Given the description of an element on the screen output the (x, y) to click on. 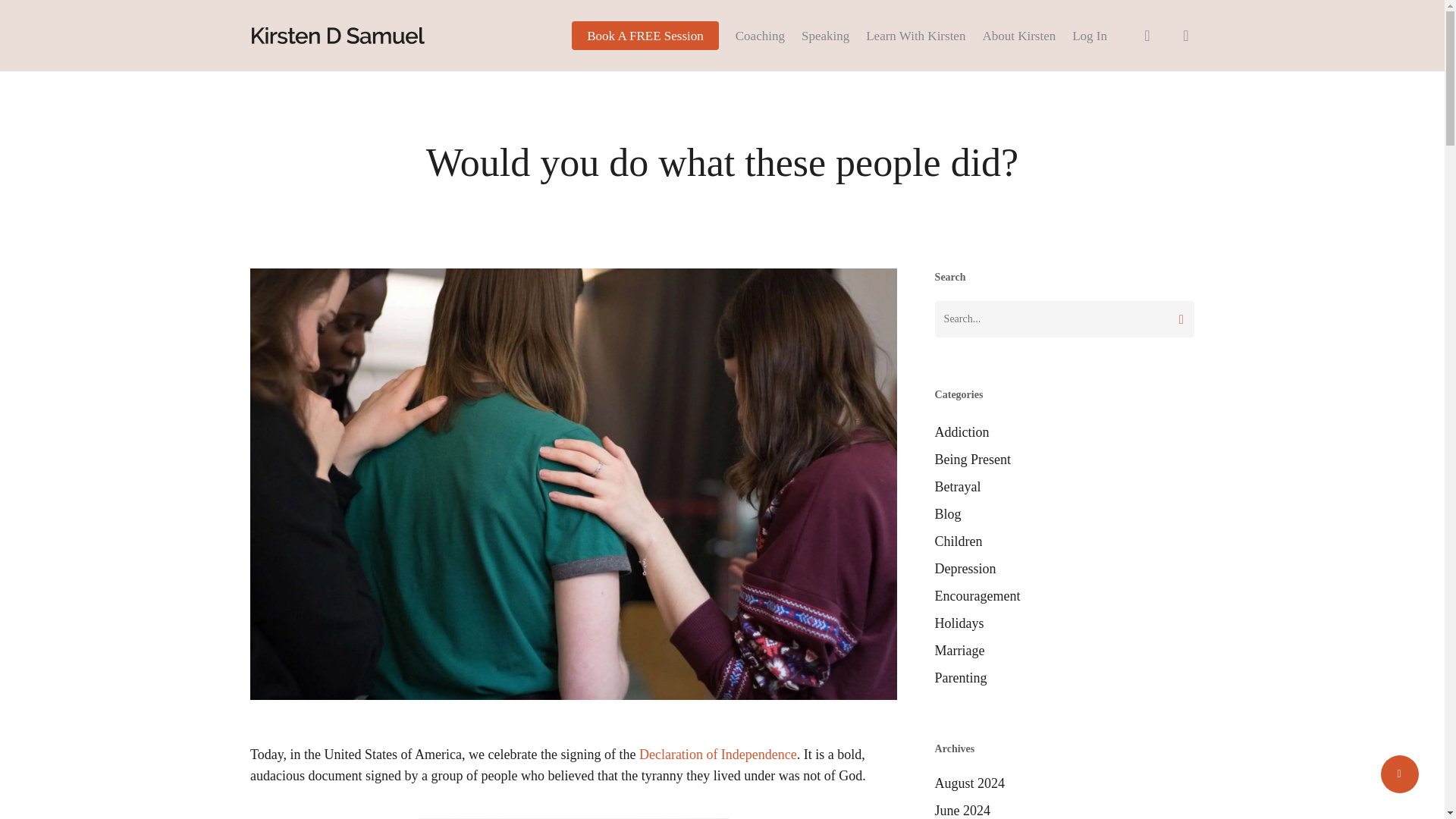
Book A FREE Session (645, 34)
Speaking (825, 34)
search (1147, 35)
Learn With Kirsten (915, 34)
Declaration of Independence (717, 754)
Coaching (759, 34)
Search for: (1063, 319)
Log In (1088, 34)
About Kirsten (1018, 34)
